Given the description of an element on the screen output the (x, y) to click on. 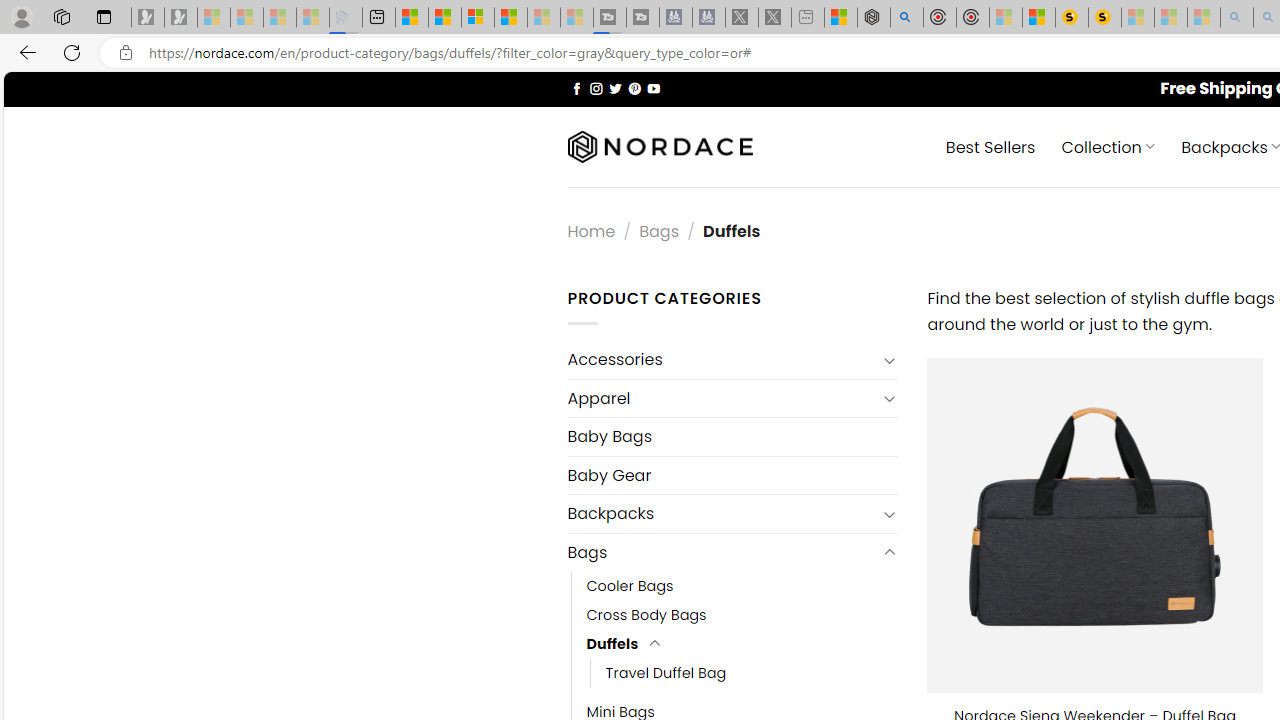
Duffels (612, 643)
Baby Bags (732, 436)
